Given the description of an element on the screen output the (x, y) to click on. 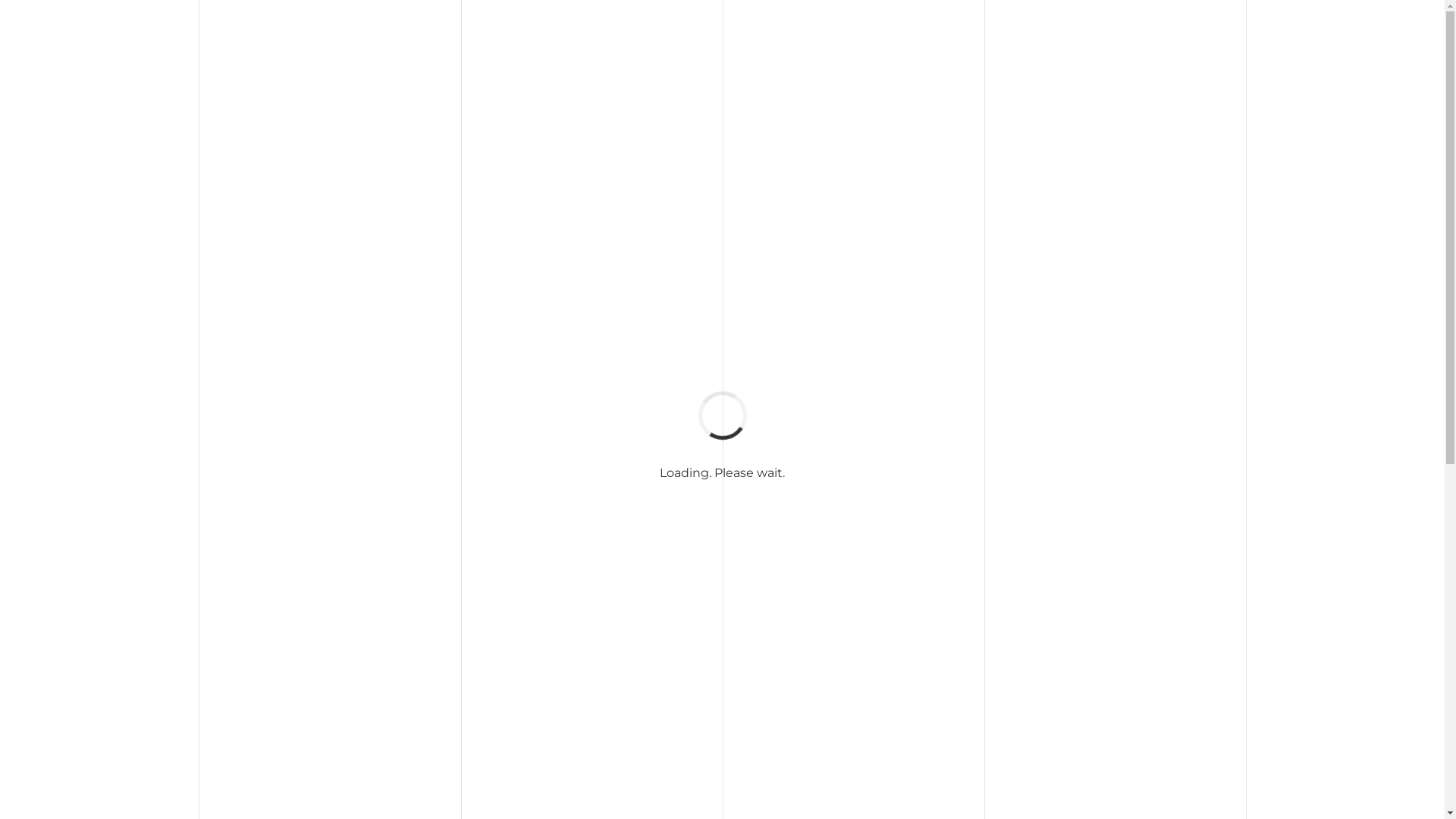
NEXT
Rilievo strutturale<br>Palazzo Corner Mocenigo Element type: text (983, 745)
PREVIOUS
DB Group S.p.A. Element type: text (327, 745)
